Given the description of an element on the screen output the (x, y) to click on. 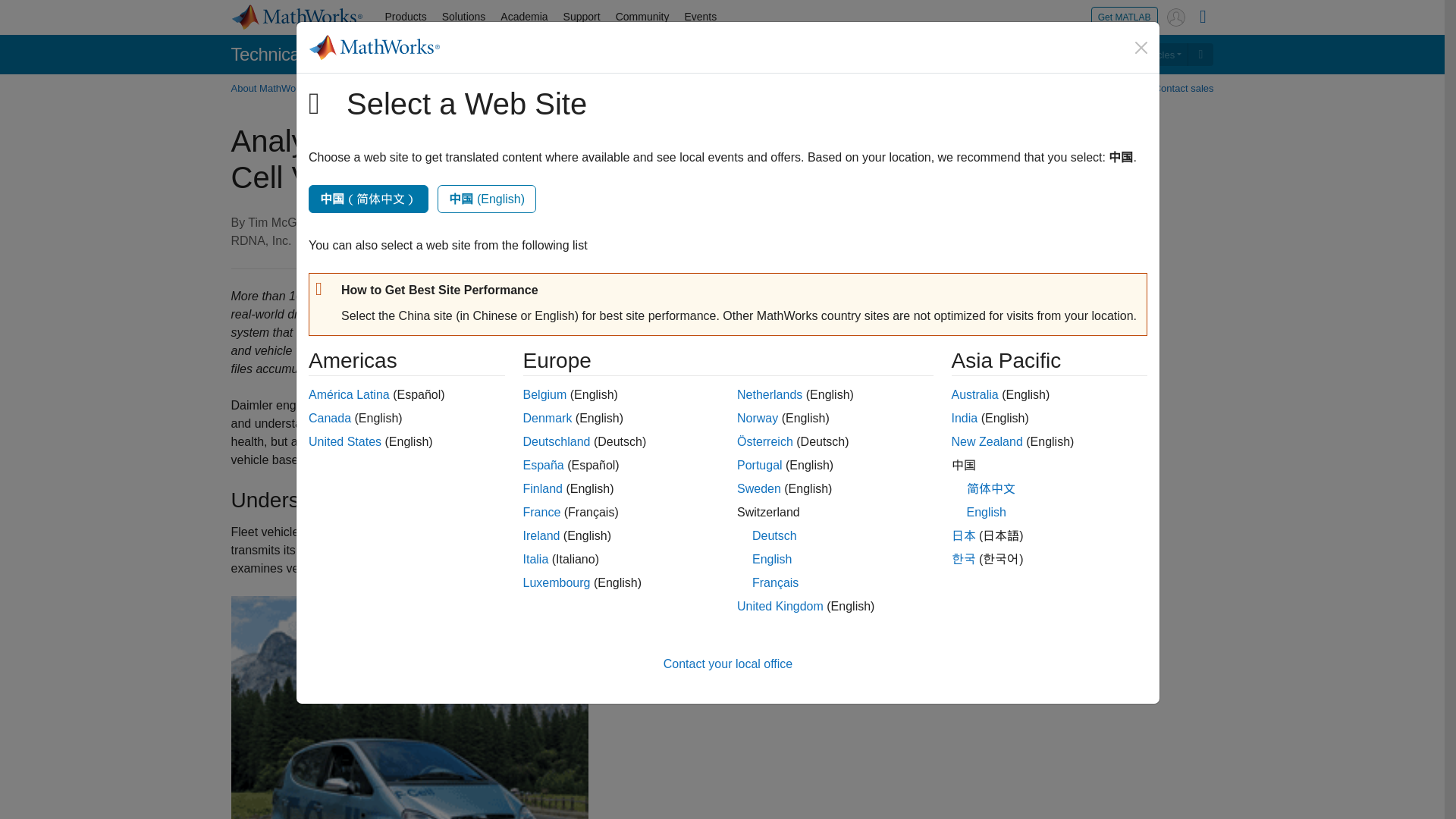
Support (582, 16)
Sign In (1175, 17)
Events (700, 16)
Solutions (463, 16)
About MathWorks (273, 88)
Technical Articles (1140, 54)
Products (405, 16)
Academia (523, 16)
Get MATLAB (1123, 16)
Sign In to Your MathWorks Account (1175, 17)
Community (642, 16)
